Given the description of an element on the screen output the (x, y) to click on. 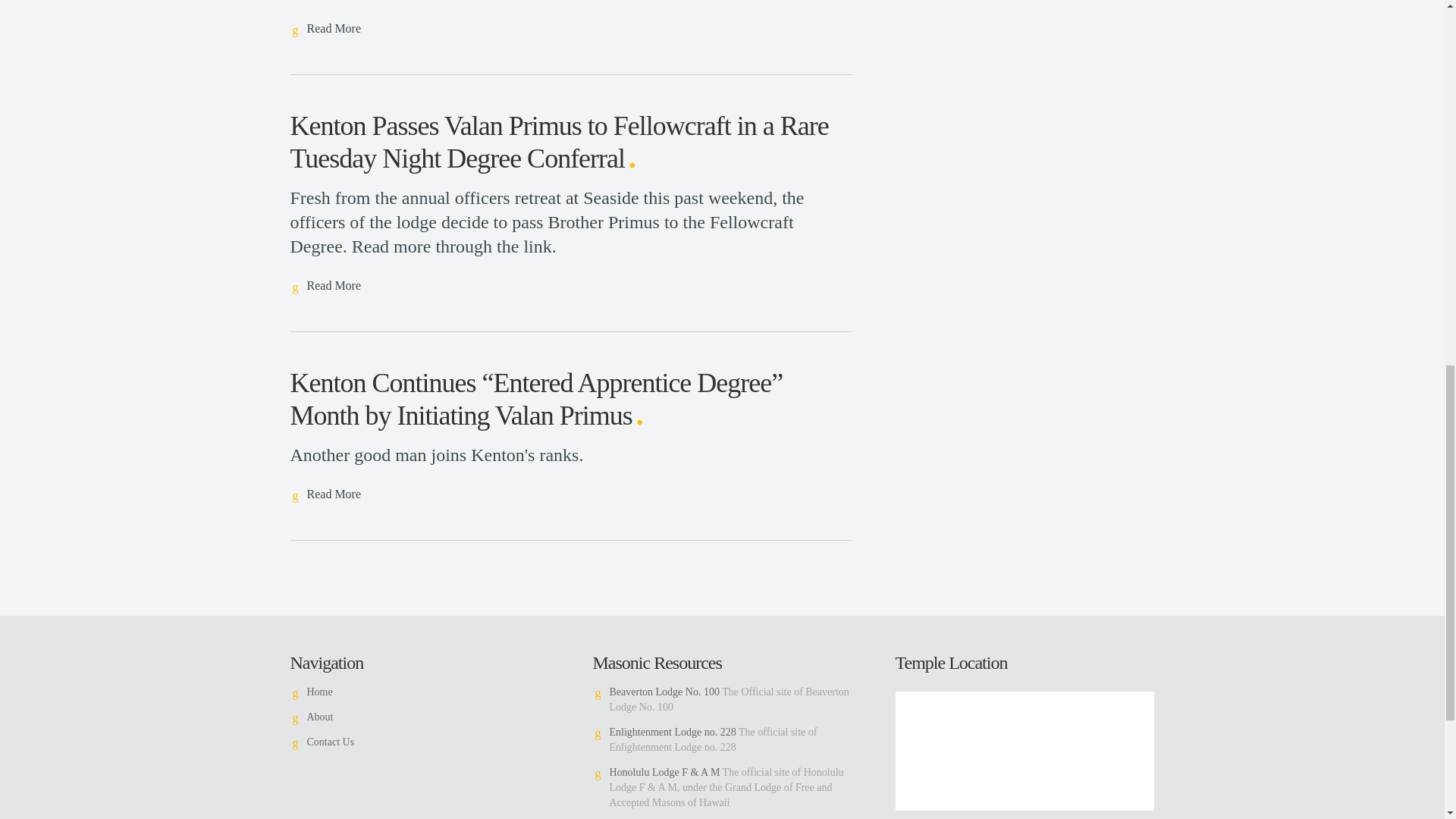
Read More (325, 29)
The Official site of Beaverton Lodge No. 100 (664, 691)
Read More (325, 495)
Contact Us (329, 741)
The official site of Enlightenment Lodge no. 228 (673, 731)
Enlightenment Lodge no. 228 (673, 731)
Beaverton Lodge No. 100 (664, 691)
Home (318, 691)
About (319, 716)
Read More (325, 286)
